Given the description of an element on the screen output the (x, y) to click on. 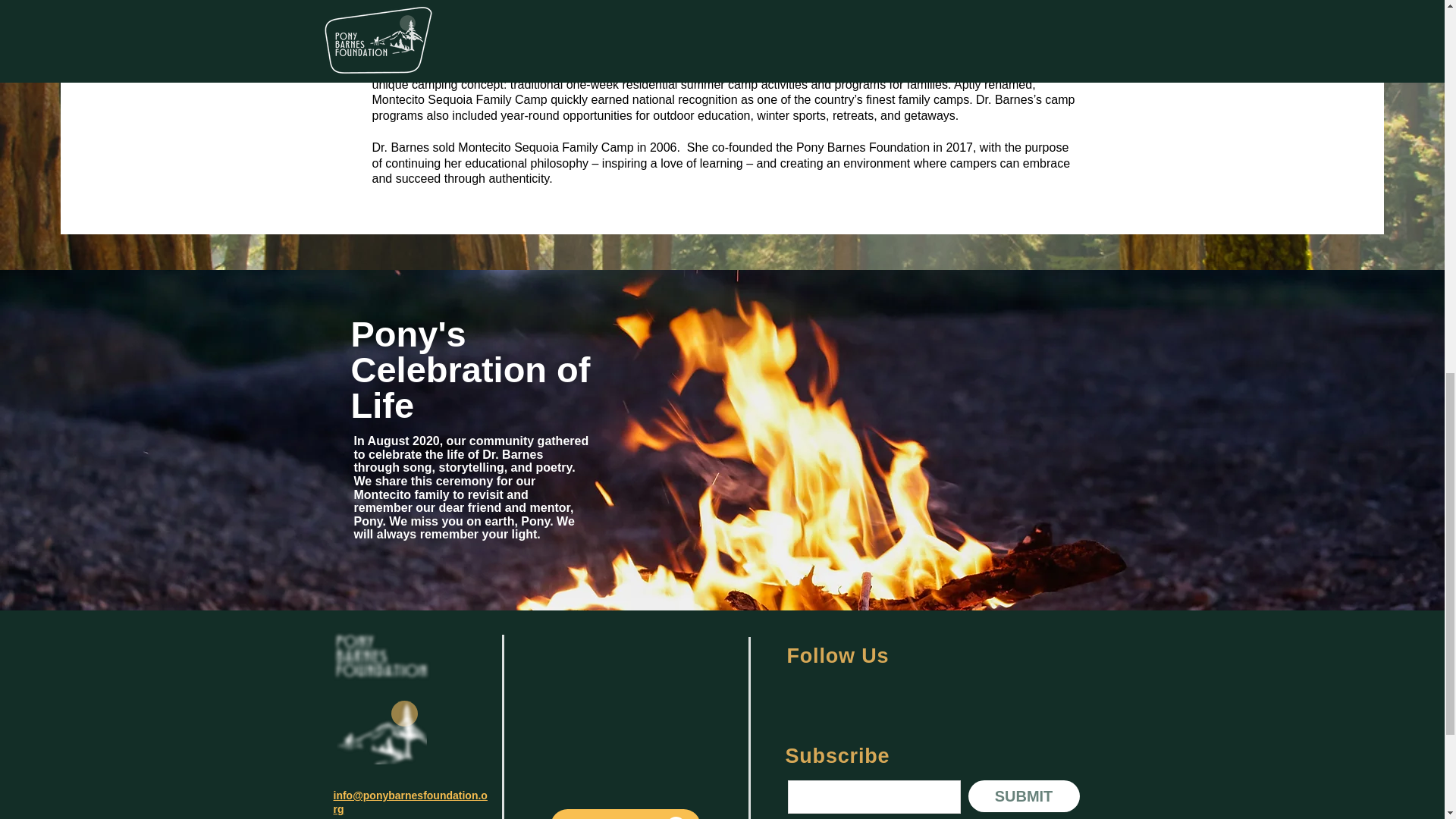
SUBMIT (1023, 796)
DONATE NOW (625, 814)
